Given the description of an element on the screen output the (x, y) to click on. 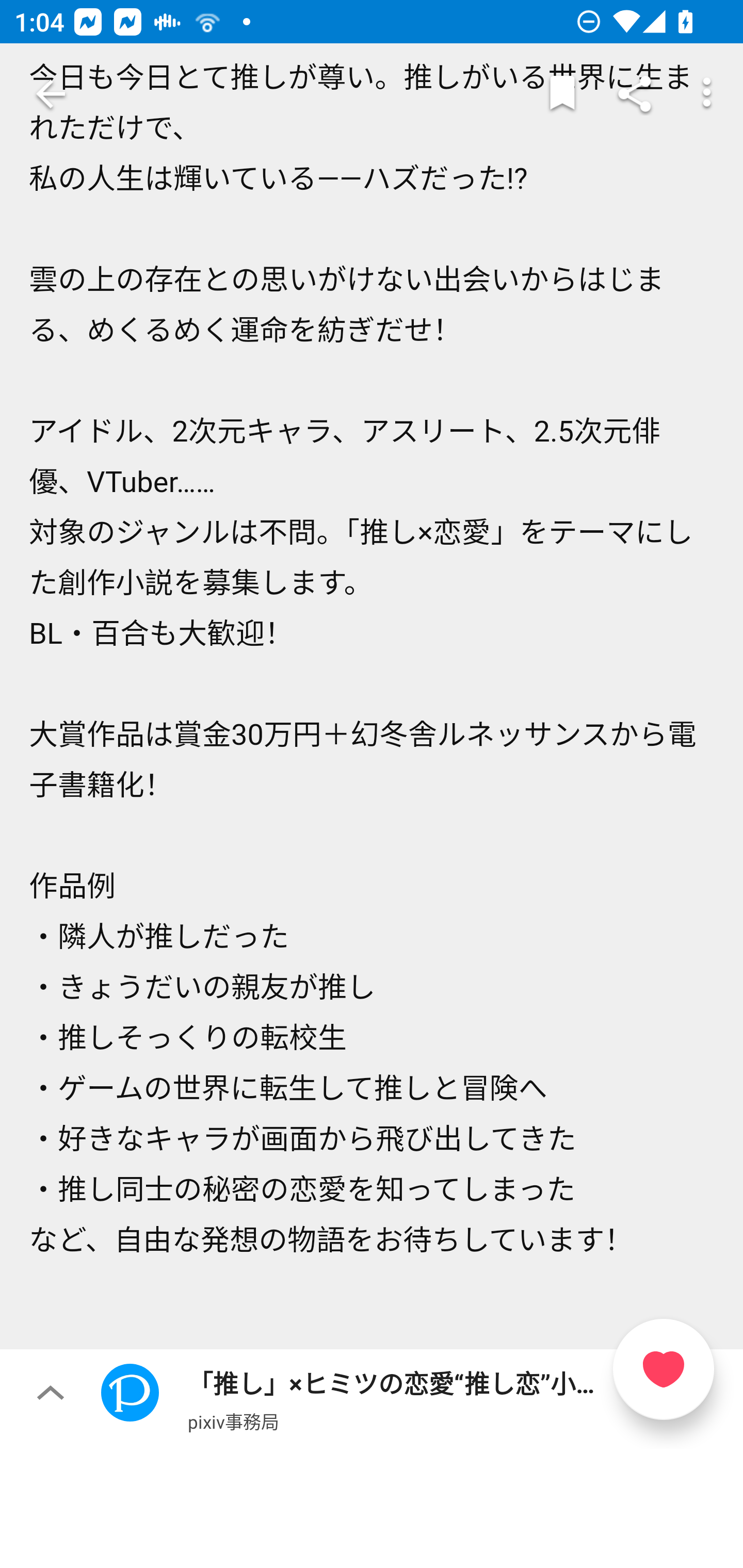
Navigate up (50, 93)
Markers (562, 93)
Share (634, 93)
More options (706, 93)
「推し」×ヒミツの恋愛“推し恋”小説コンテスト　開催 (371, 1403)
pixiv事務局 (233, 1421)
